Given the description of an element on the screen output the (x, y) to click on. 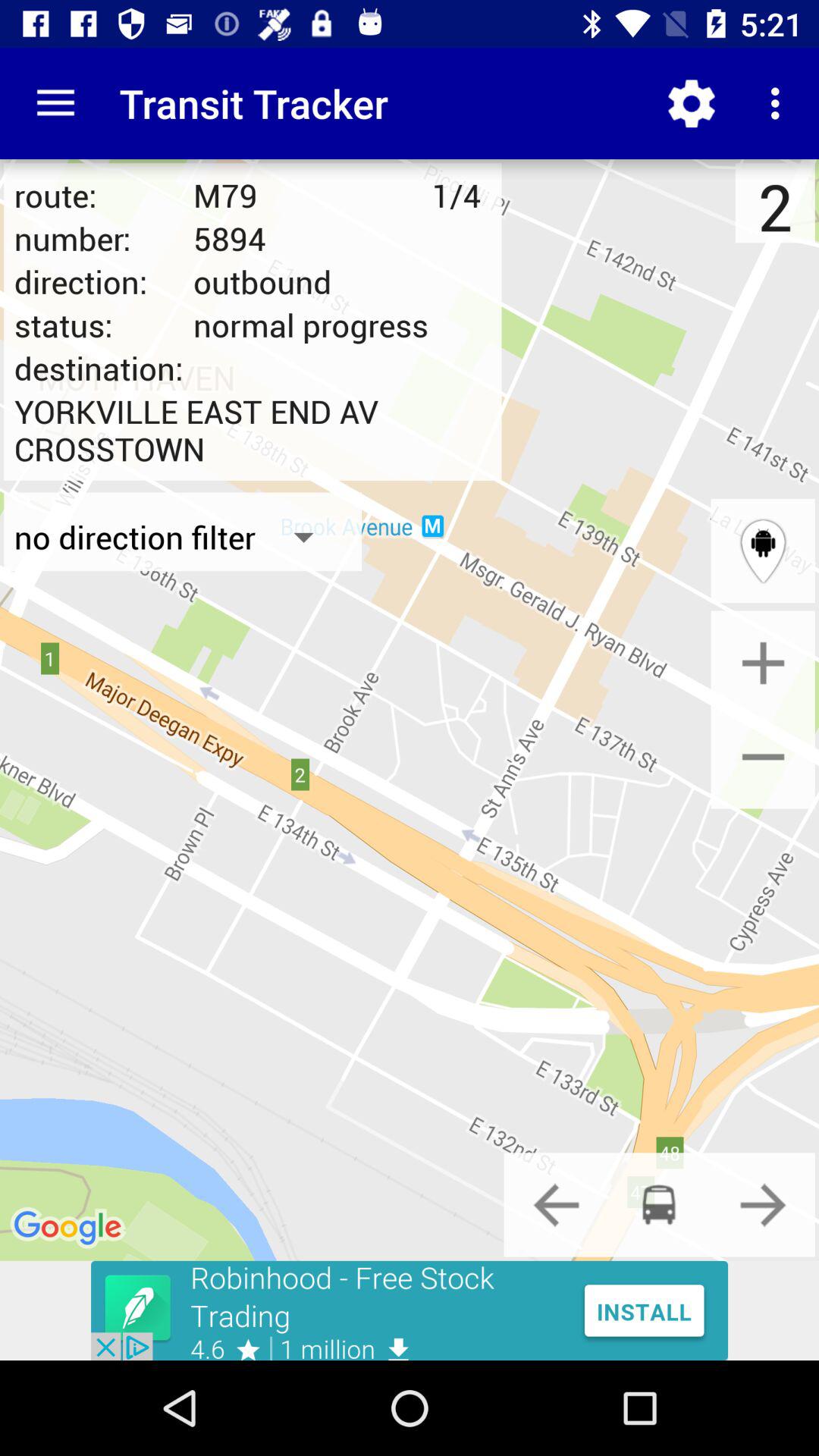
advertisement (409, 1310)
